Given the description of an element on the screen output the (x, y) to click on. 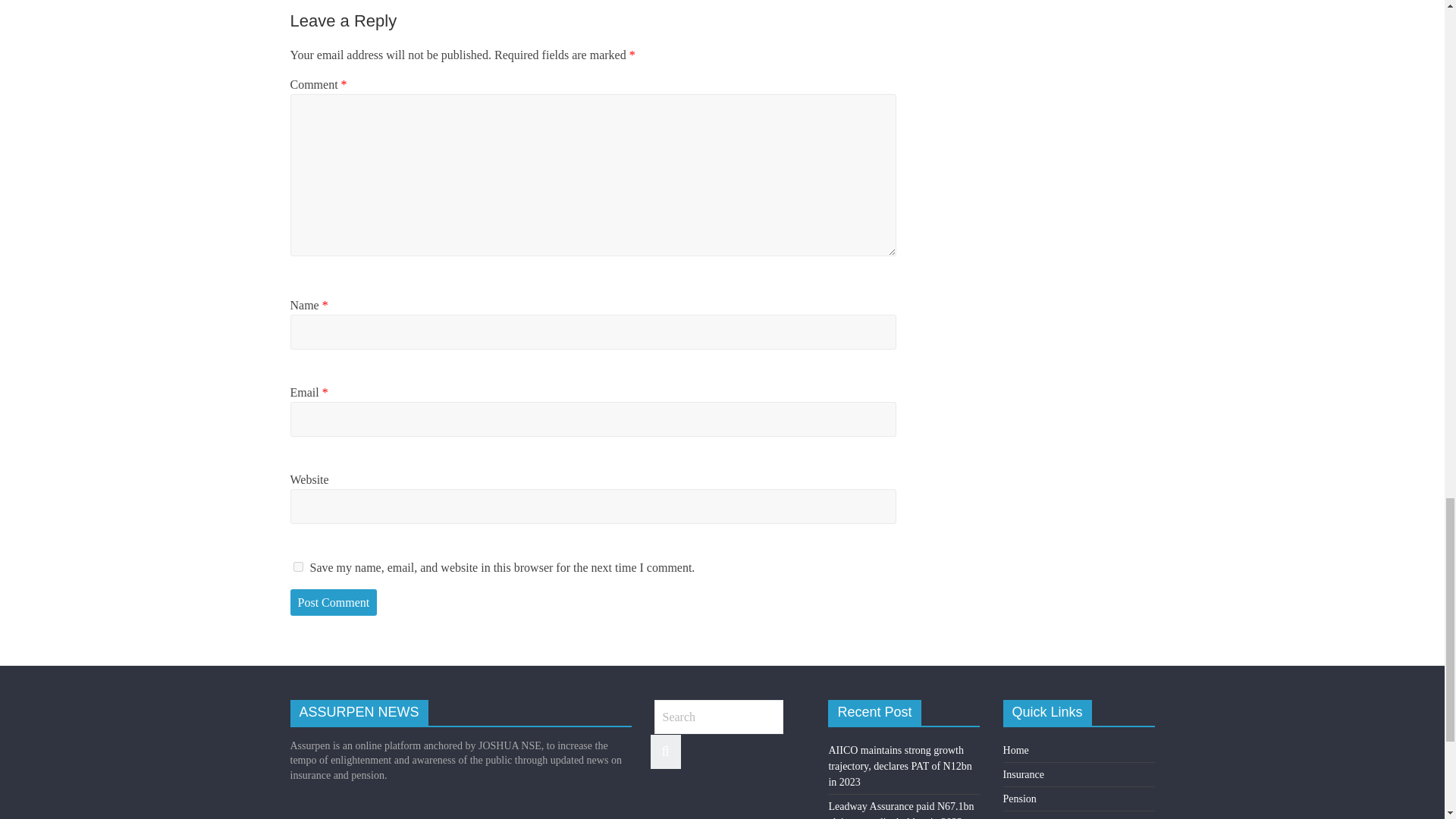
yes (297, 566)
Post Comment (333, 602)
